Given the description of an element on the screen output the (x, y) to click on. 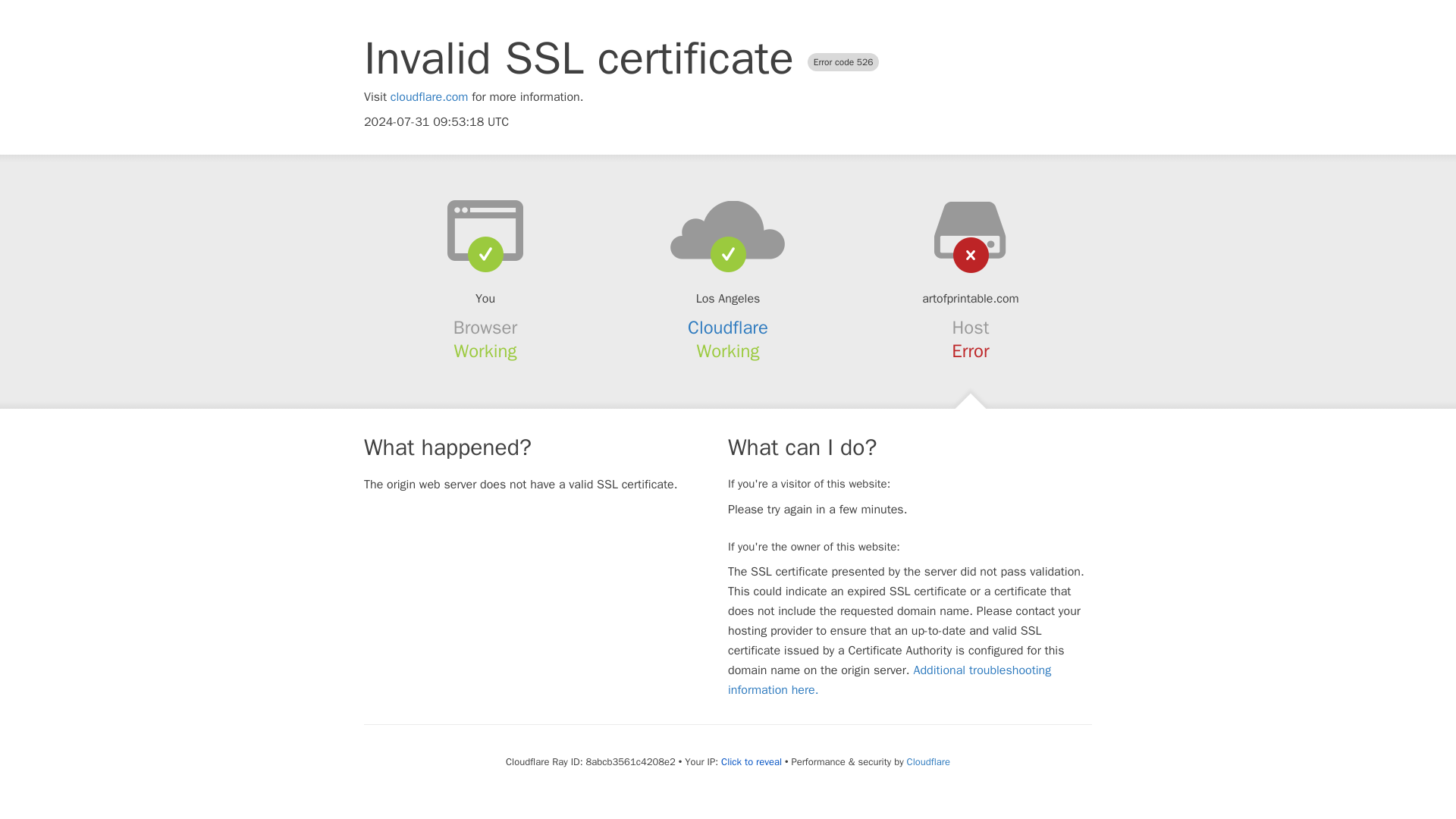
cloudflare.com (429, 96)
Click to reveal (750, 762)
Additional troubleshooting information here. (889, 679)
Cloudflare (727, 327)
Cloudflare (927, 761)
